Given the description of an element on the screen output the (x, y) to click on. 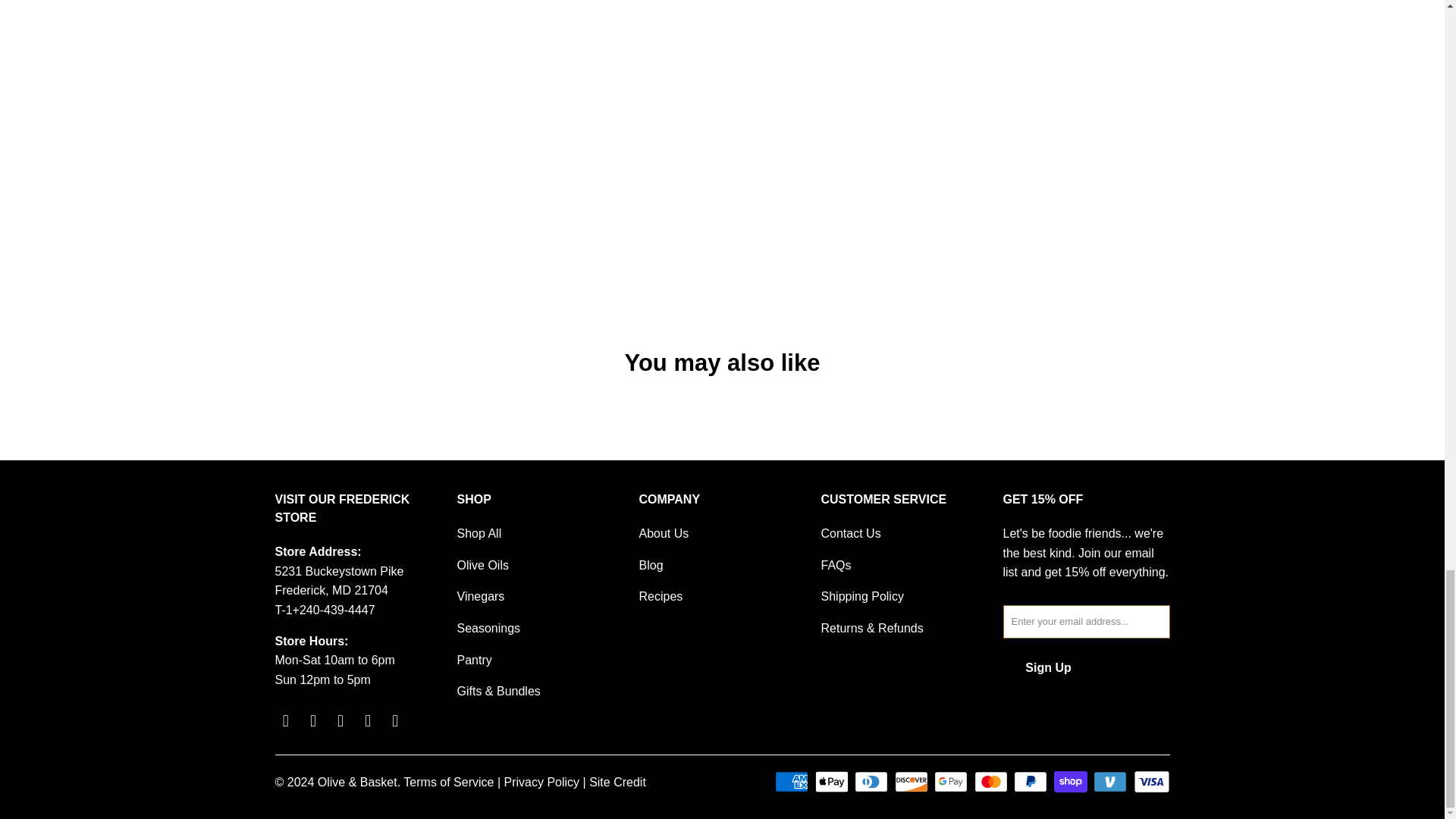
Sign Up (1048, 667)
Venmo (1111, 781)
Diners Club (872, 781)
Let's make every meal a celebration of exceptional taste. (949, 114)
Visa (1150, 781)
Google Pay (952, 781)
Shop Pay (1072, 781)
Mastercard (992, 781)
American Express (792, 781)
Apple Pay (833, 781)
